Given the description of an element on the screen output the (x, y) to click on. 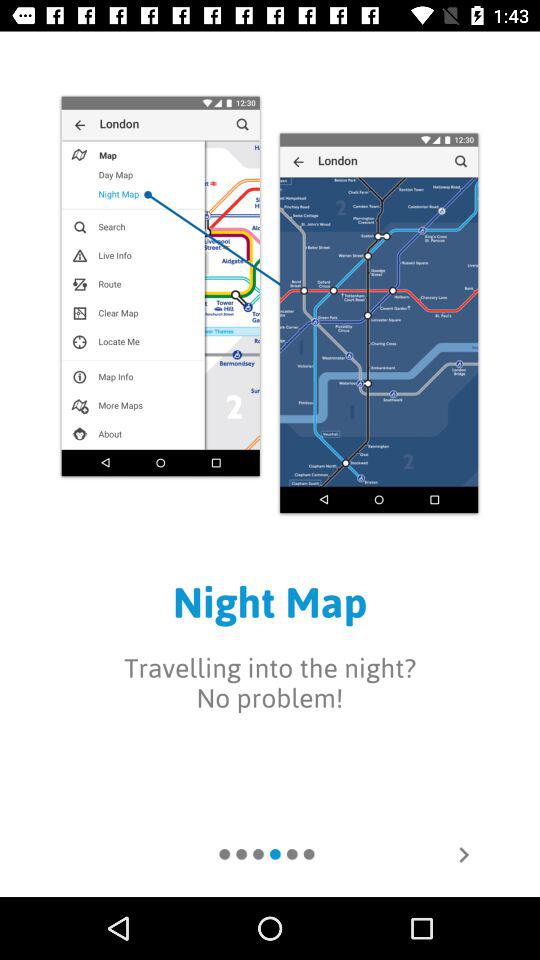
move to next page (463, 855)
